Given the description of an element on the screen output the (x, y) to click on. 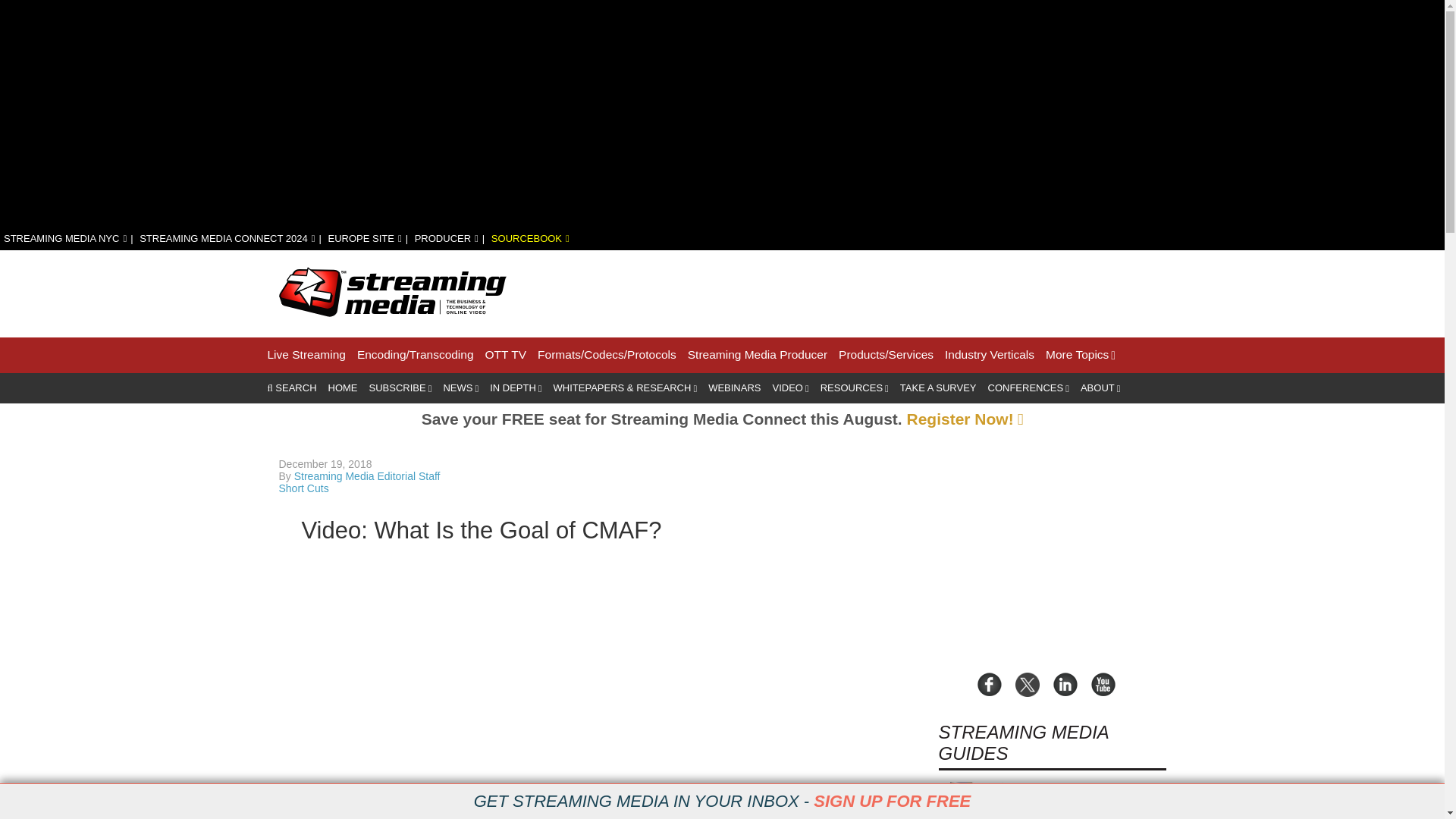
3rd party ad content (890, 291)
Streaming Media Producer (757, 355)
STREAMING MEDIA CONNECT 2024 (226, 238)
SOURCEBOOK (530, 238)
HOME (343, 387)
Industry Verticals (988, 355)
NEWS (460, 388)
 SEARCH (290, 387)
More Topics (1080, 355)
SUBSCRIBE (400, 388)
Industry Verticals (988, 355)
OTT TV (505, 355)
GET STREAMING MEDIA IN YOUR INBOX - SIGN UP FOR FREE (722, 801)
STREAMING MEDIA NYC (65, 238)
